Given the description of an element on the screen output the (x, y) to click on. 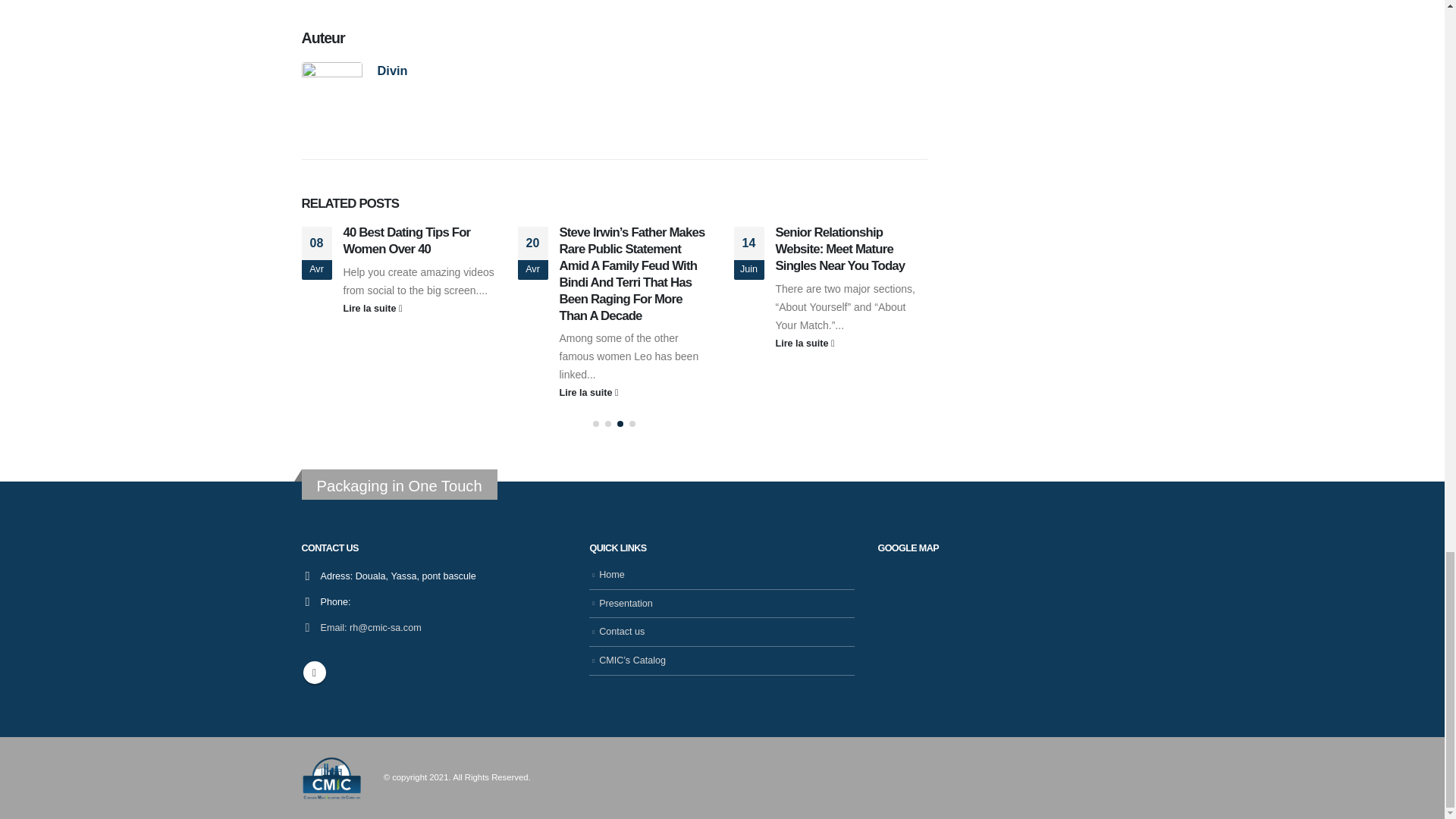
Articles par Divin (392, 69)
Hacked By Demon Yuzen -  (331, 777)
